Given the description of an element on the screen output the (x, y) to click on. 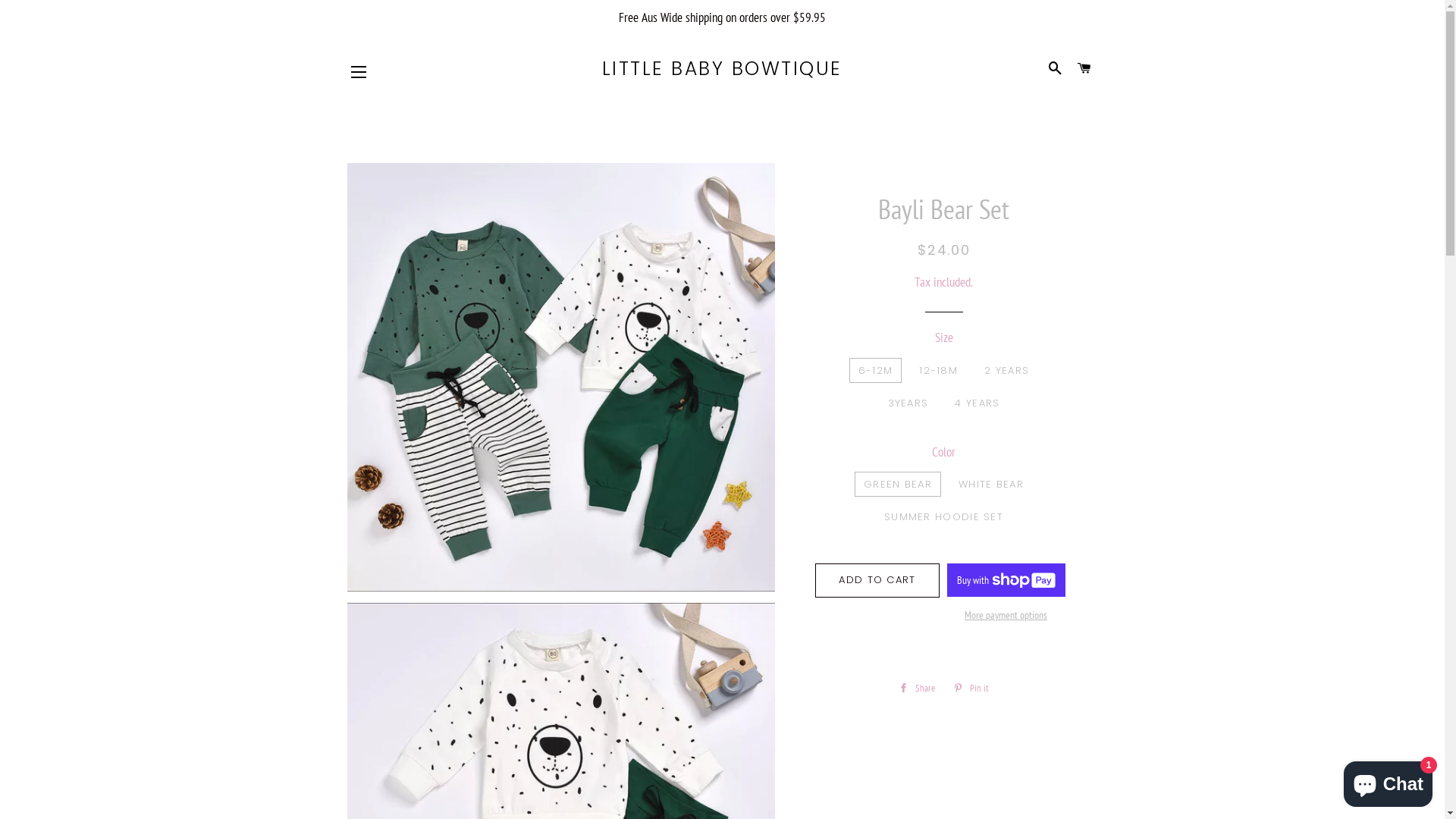
SITE NAVIGATION Element type: text (358, 72)
LITTLE BABY BOWTIQUE Element type: text (721, 68)
More payment options Element type: text (1006, 615)
SEARCH Element type: text (1055, 69)
Pin it
Pin on Pinterest Element type: text (970, 688)
CART Element type: text (1084, 69)
ADD TO CART Element type: text (876, 579)
Shopify online store chat Element type: hover (1388, 780)
Share
Share on Facebook Element type: text (916, 688)
